Given the description of an element on the screen output the (x, y) to click on. 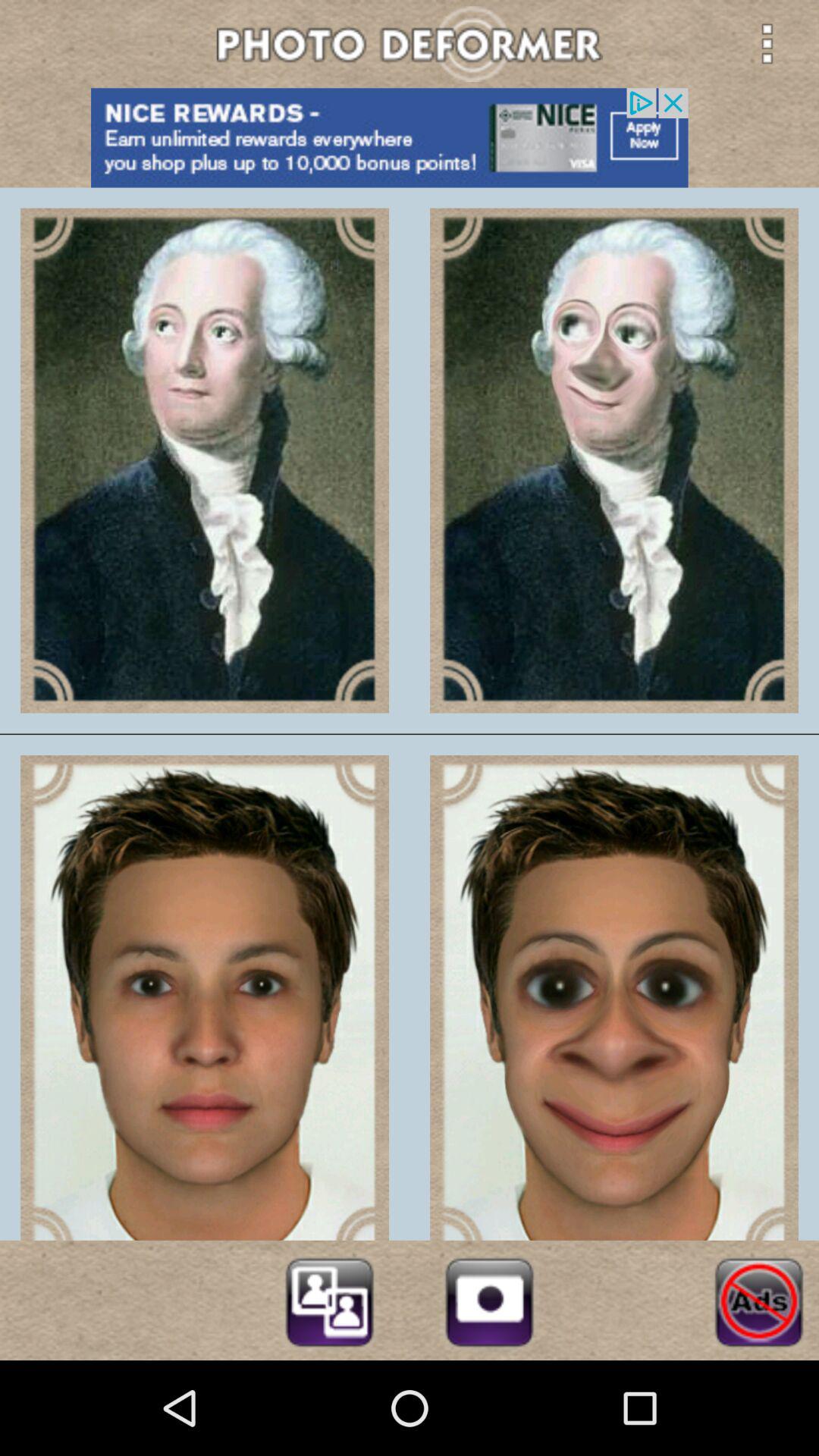
advertisements button (758, 1300)
